Given the description of an element on the screen output the (x, y) to click on. 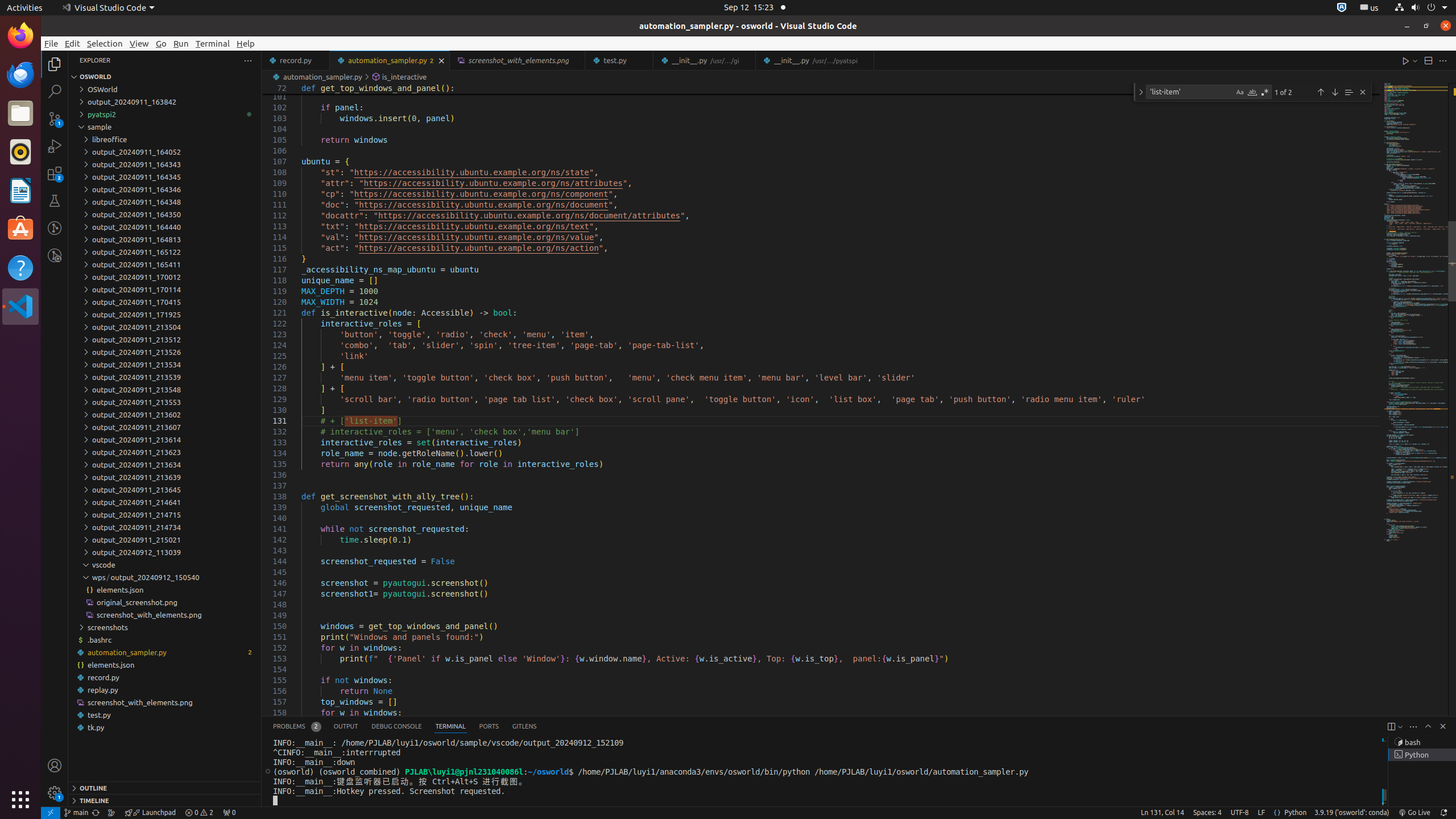
screenshot_with_elements.png, preview Element type: page-tab (517, 60)
test.py Element type: tree-item (164, 714)
remote Element type: push-button (50, 812)
Terminal Element type: push-button (212, 43)
LF Element type: push-button (1261, 812)
